Given the description of an element on the screen output the (x, y) to click on. 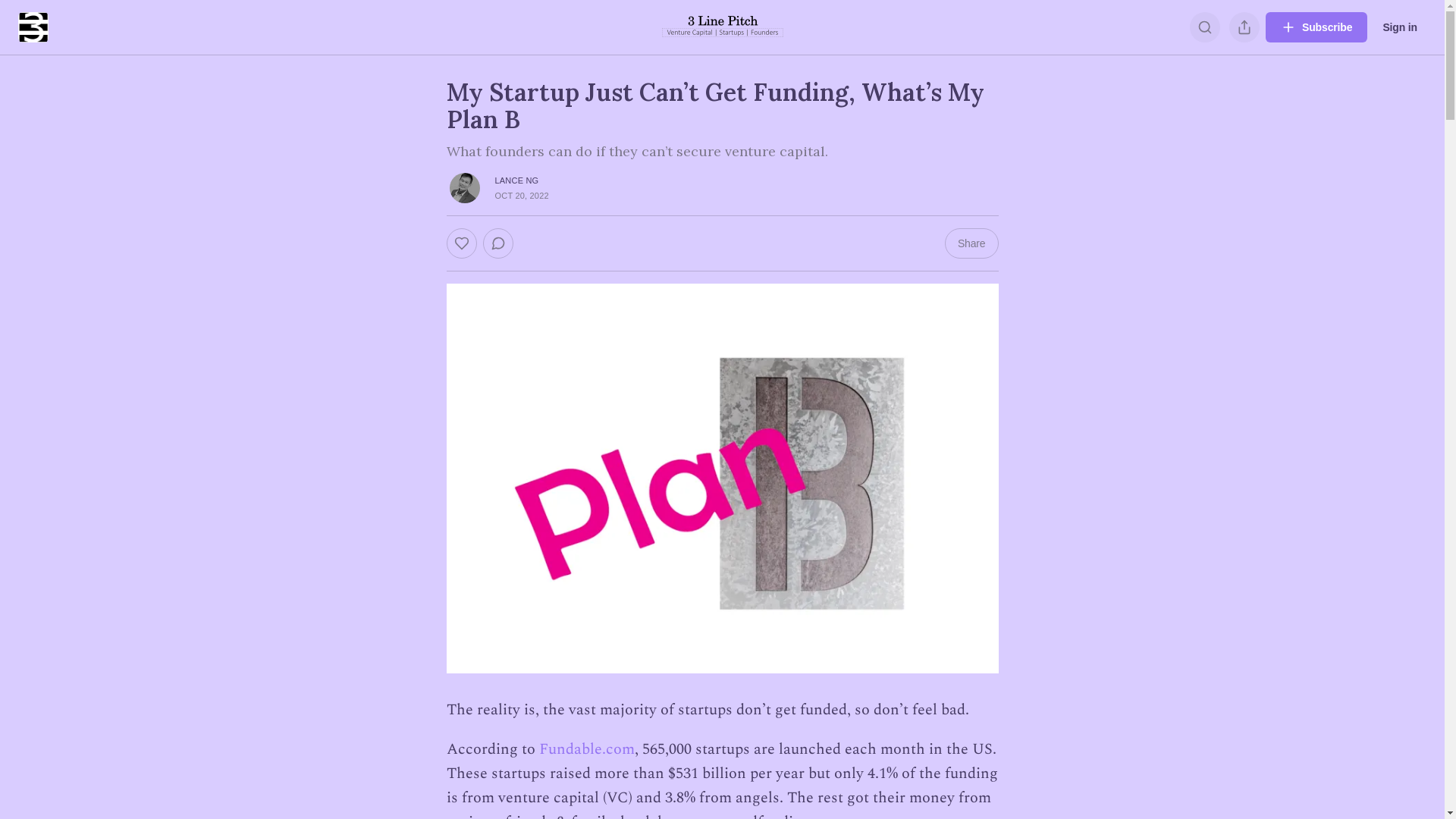
LANCE NG Element type: text (516, 180)
Share Element type: text (971, 243)
Subscribe Element type: text (1316, 27)
Sign in Element type: text (1399, 27)
Fundable.com Element type: text (585, 748)
